Given the description of an element on the screen output the (x, y) to click on. 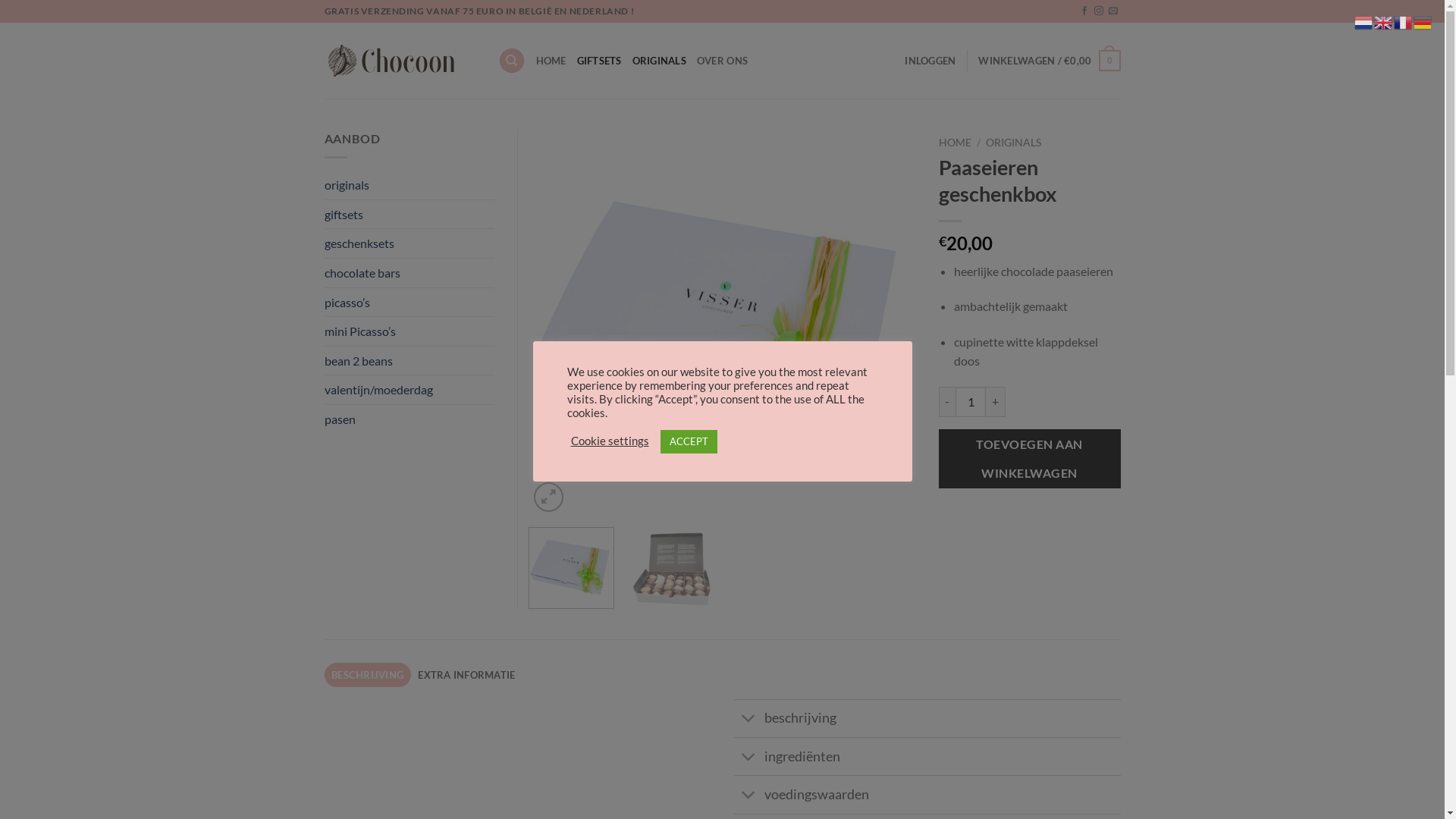
Qty Element type: hover (970, 401)
voedingswaarden Element type: text (927, 793)
originals Element type: text (346, 184)
Cookie settings Element type: text (609, 441)
HOME Element type: text (954, 142)
BESCHRIJVING Element type: text (367, 674)
chocolate bars Element type: text (362, 272)
pasen Element type: text (339, 418)
Deutsch Element type: hover (1423, 20)
bean 2 beans Element type: text (358, 360)
EXTRA INFORMATIE Element type: text (466, 674)
TOEVOEGEN AAN WINKELWAGEN Element type: text (1029, 459)
OVER ONS Element type: text (721, 60)
paas1 Element type: hover (722, 321)
ACCEPT Element type: text (687, 440)
giftsets Element type: text (343, 214)
ORIGINALS Element type: text (1013, 142)
Nederlands Element type: hover (1364, 20)
English Element type: hover (1383, 20)
GIFTSETS Element type: text (599, 60)
ORIGINALS Element type: text (659, 60)
HOME Element type: text (551, 60)
geschenksets Element type: text (359, 243)
valentijn/moederdag Element type: text (378, 389)
INLOGGEN Element type: text (929, 60)
beschrijving Element type: text (927, 718)
